Given the description of an element on the screen output the (x, y) to click on. 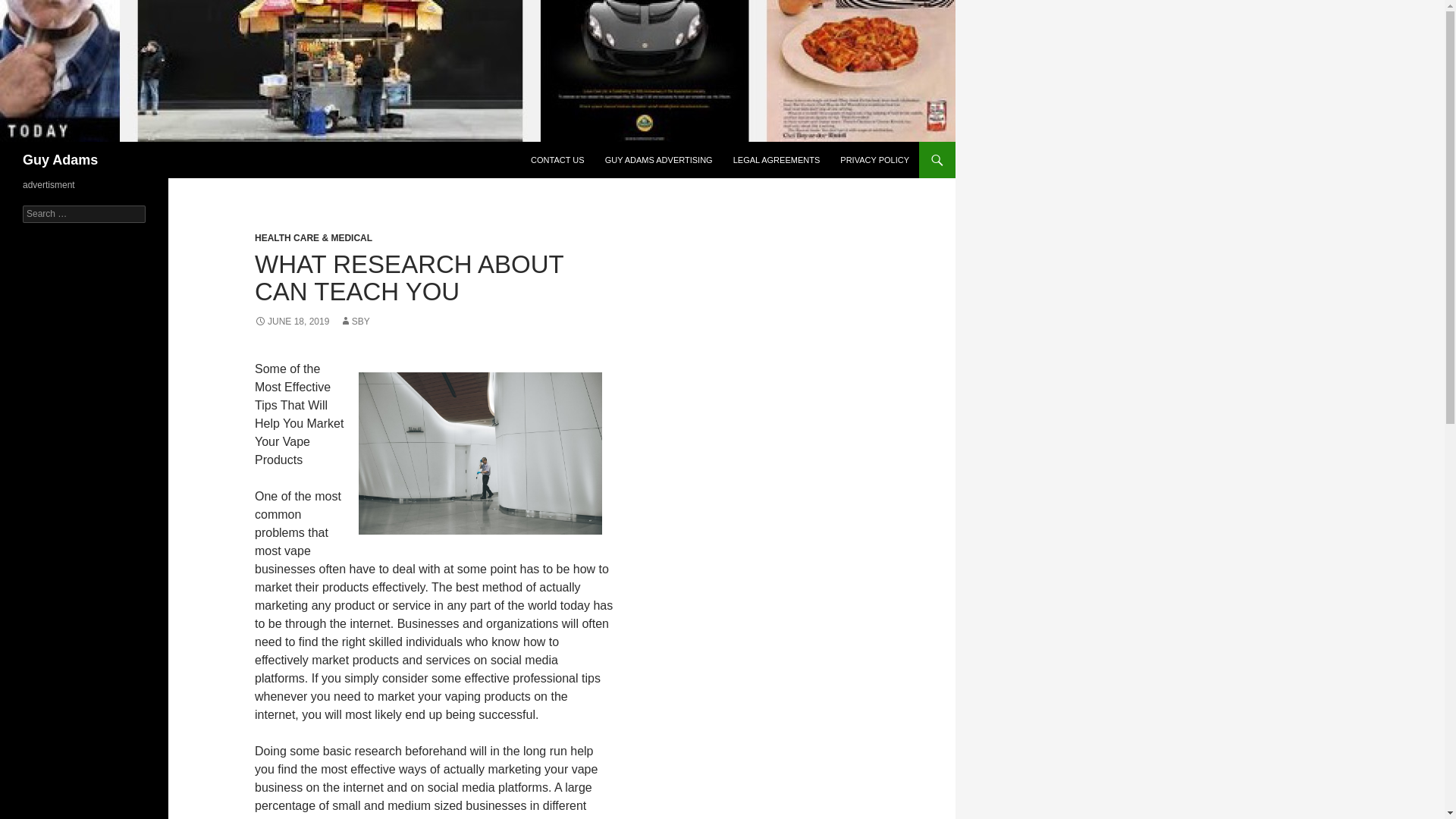
SBY (354, 321)
Guy Adams (60, 159)
CONTACT US (557, 159)
PRIVACY POLICY (874, 159)
JUNE 18, 2019 (291, 321)
GUY ADAMS ADVERTISING (658, 159)
Search (30, 8)
LEGAL AGREEMENTS (776, 159)
